Given the description of an element on the screen output the (x, y) to click on. 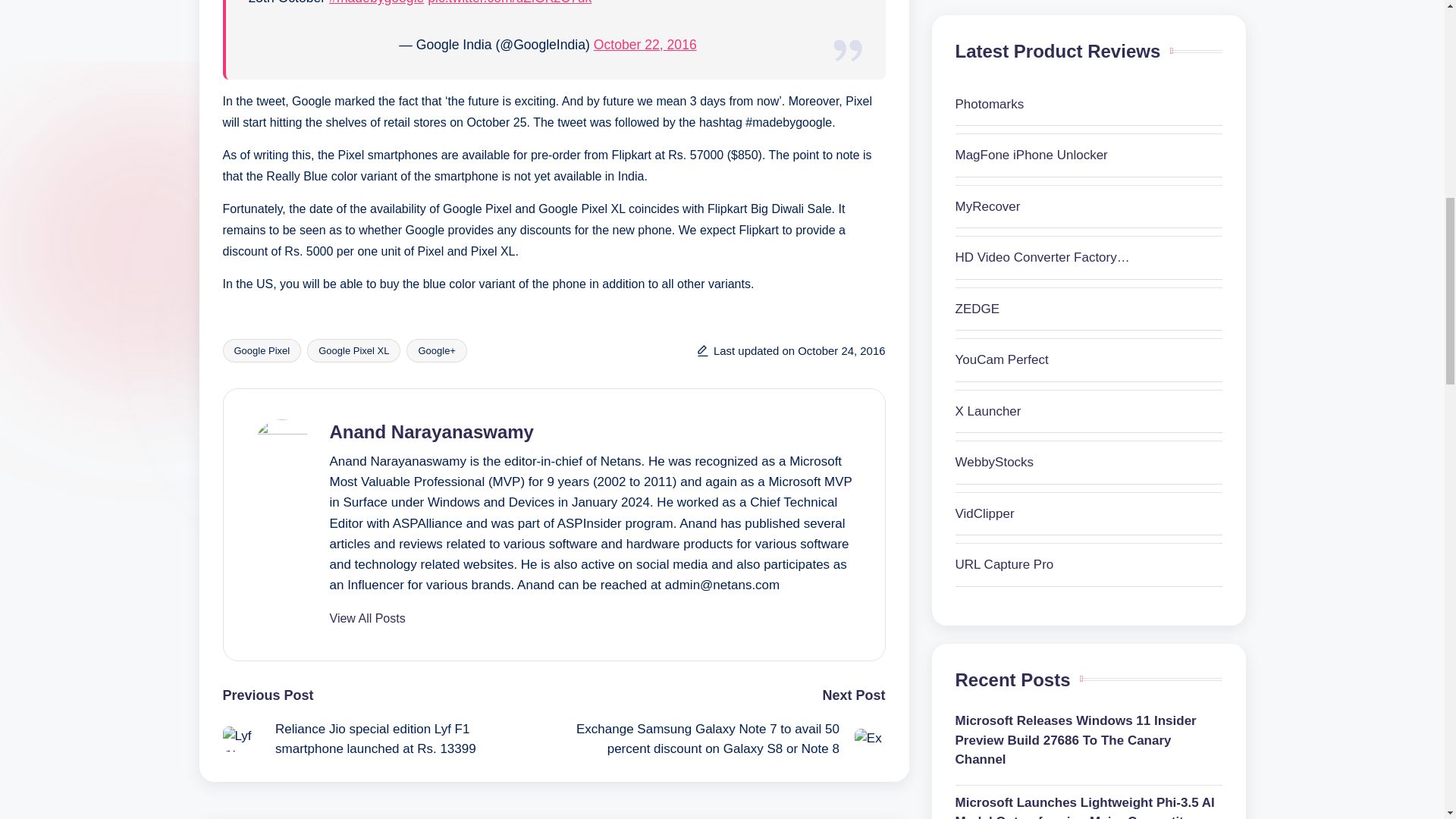
Google Pixel XL (353, 350)
View All Posts (366, 618)
October 22, 2016 (645, 44)
Google Pixel (261, 350)
Anand Narayanaswamy (430, 431)
